Given the description of an element on the screen output the (x, y) to click on. 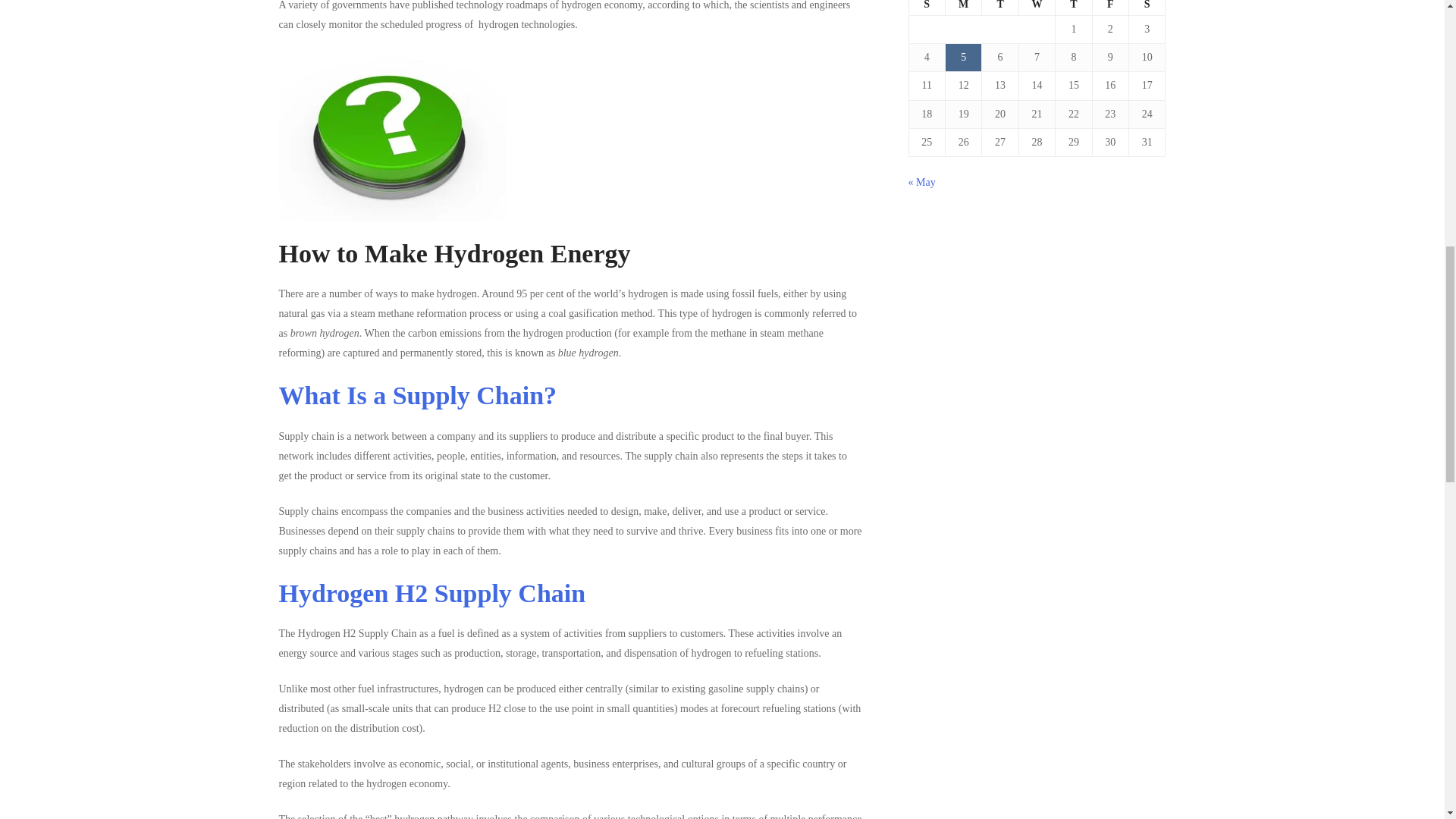
What Is a Supply Chain? (418, 395)
Monday (962, 7)
Thursday (1073, 7)
Saturday (1147, 7)
Tuesday (999, 7)
Friday (1110, 7)
Sunday (926, 7)
Wednesday (1035, 7)
Hydrogen H2 Supply Chain (432, 593)
